Given the description of an element on the screen output the (x, y) to click on. 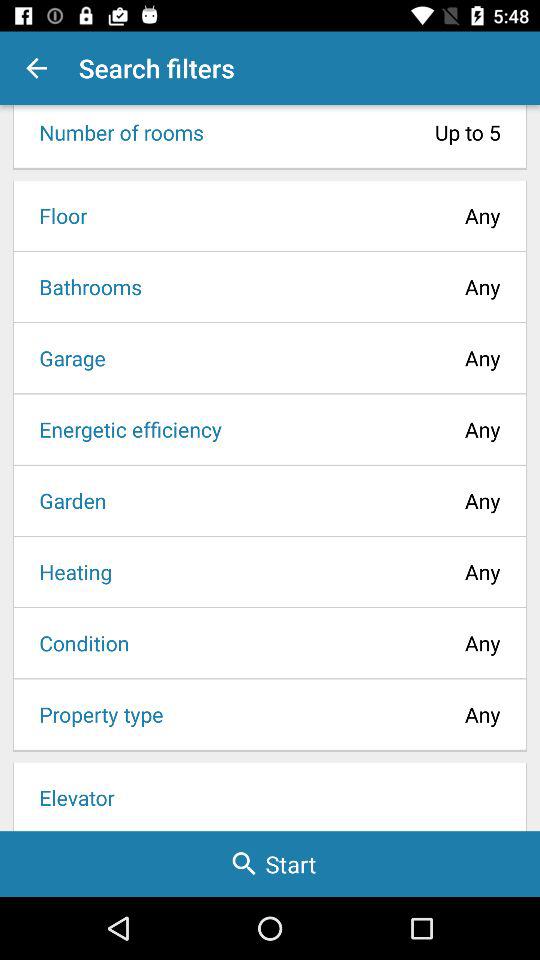
select item next to the up to 5 (115, 132)
